Given the description of an element on the screen output the (x, y) to click on. 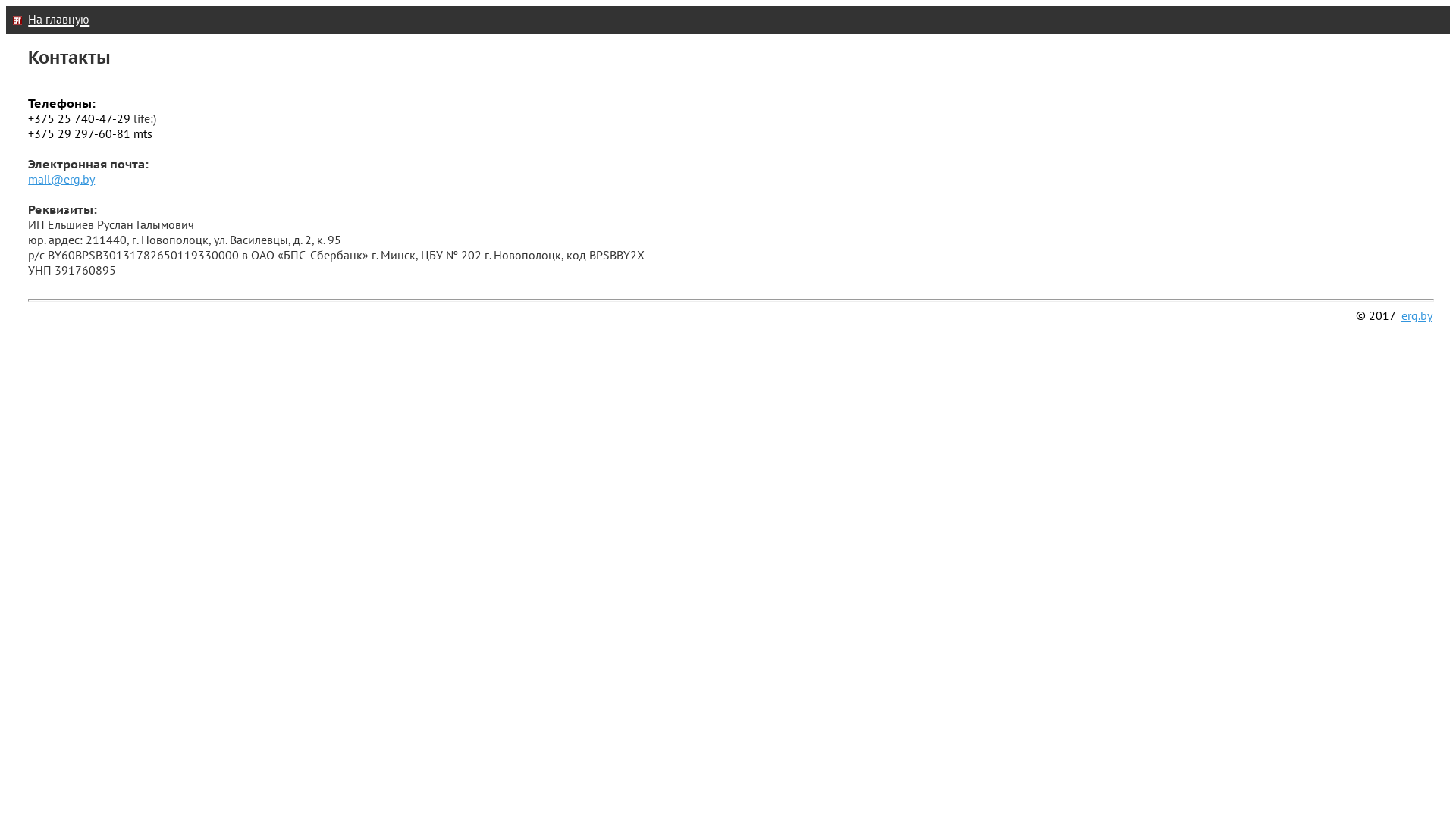
+375 29 297-60-81 Element type: text (79, 133)
mail@erg.by Element type: text (61, 178)
+375 25 740-47-29 Element type: text (79, 117)
erg.by Element type: text (1416, 315)
